Given the description of an element on the screen output the (x, y) to click on. 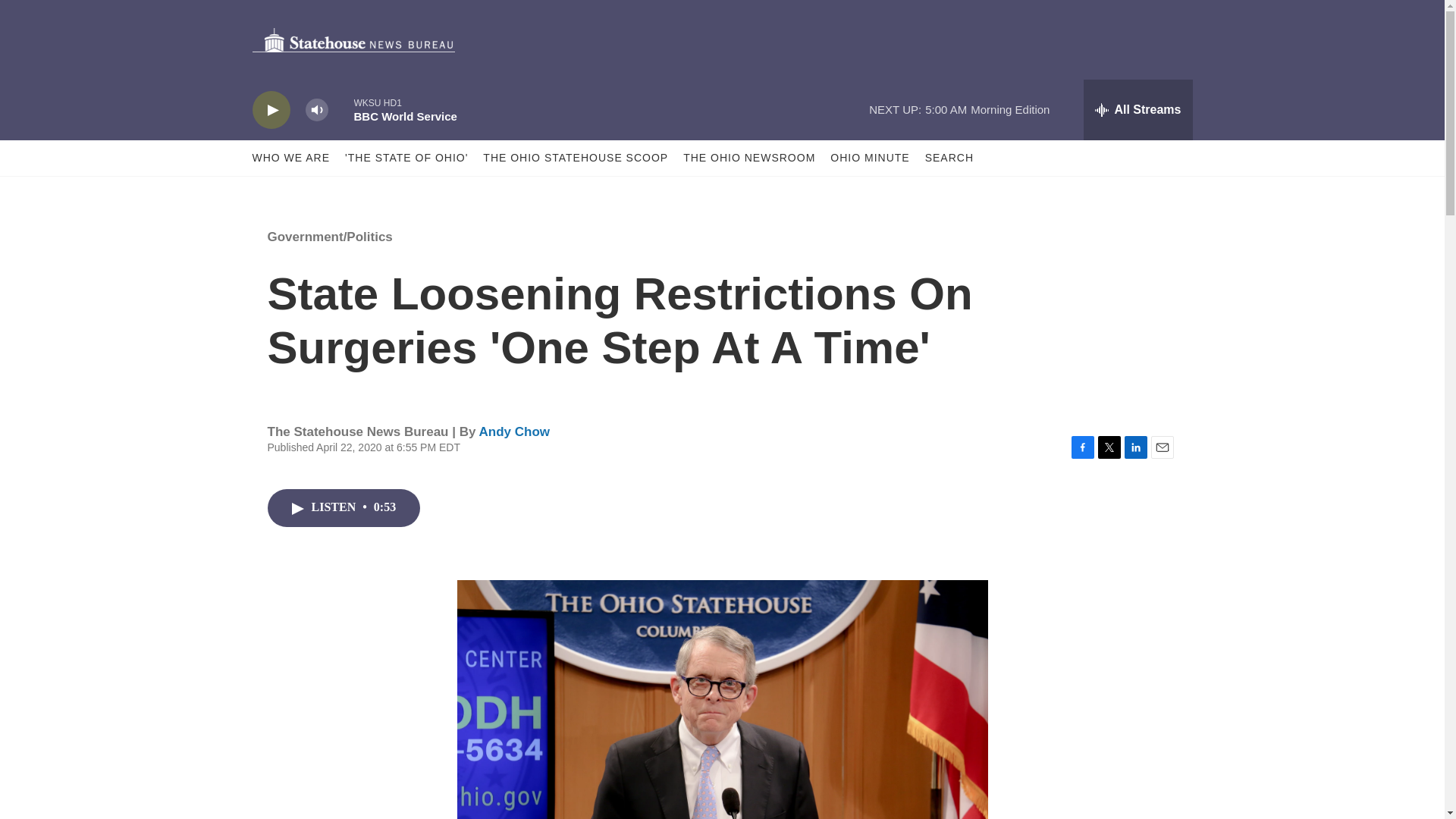
THE OHIO NEWSROOM (748, 158)
OHIO MINUTE (868, 158)
Email (1162, 446)
SEARCH (949, 158)
Andy Chow (514, 431)
Facebook (1081, 446)
Twitter (1109, 446)
All Streams (1137, 109)
'THE STATE OF OHIO' (406, 158)
LinkedIn (1135, 446)
THE OHIO STATEHOUSE SCOOP (575, 158)
WHO WE ARE (290, 158)
